Given the description of an element on the screen output the (x, y) to click on. 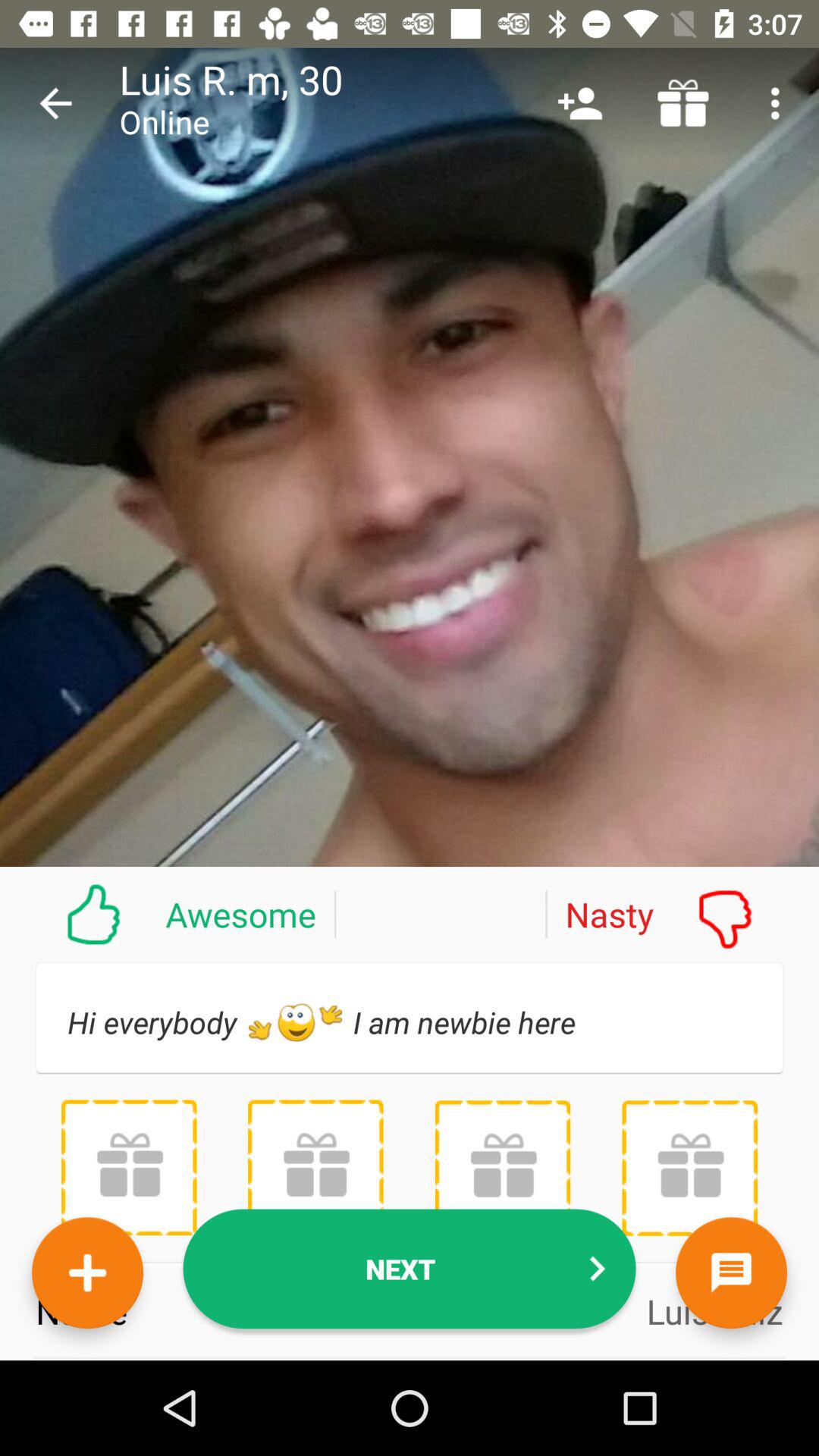
open icon above the nasty item (683, 103)
